Given the description of an element on the screen output the (x, y) to click on. 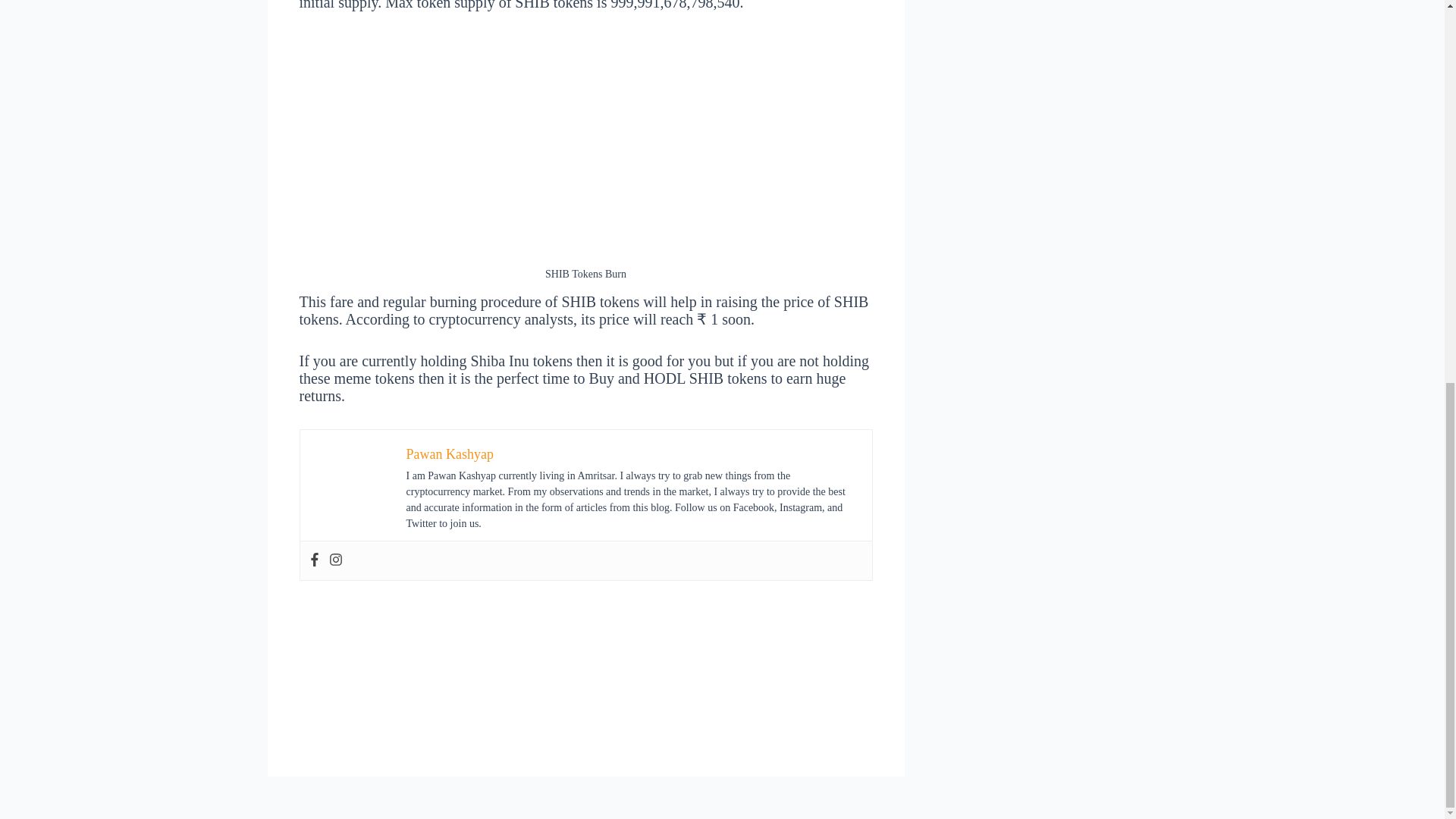
Pawan Kashyap (449, 453)
Facebook (314, 560)
Instagram (335, 560)
